Given the description of an element on the screen output the (x, y) to click on. 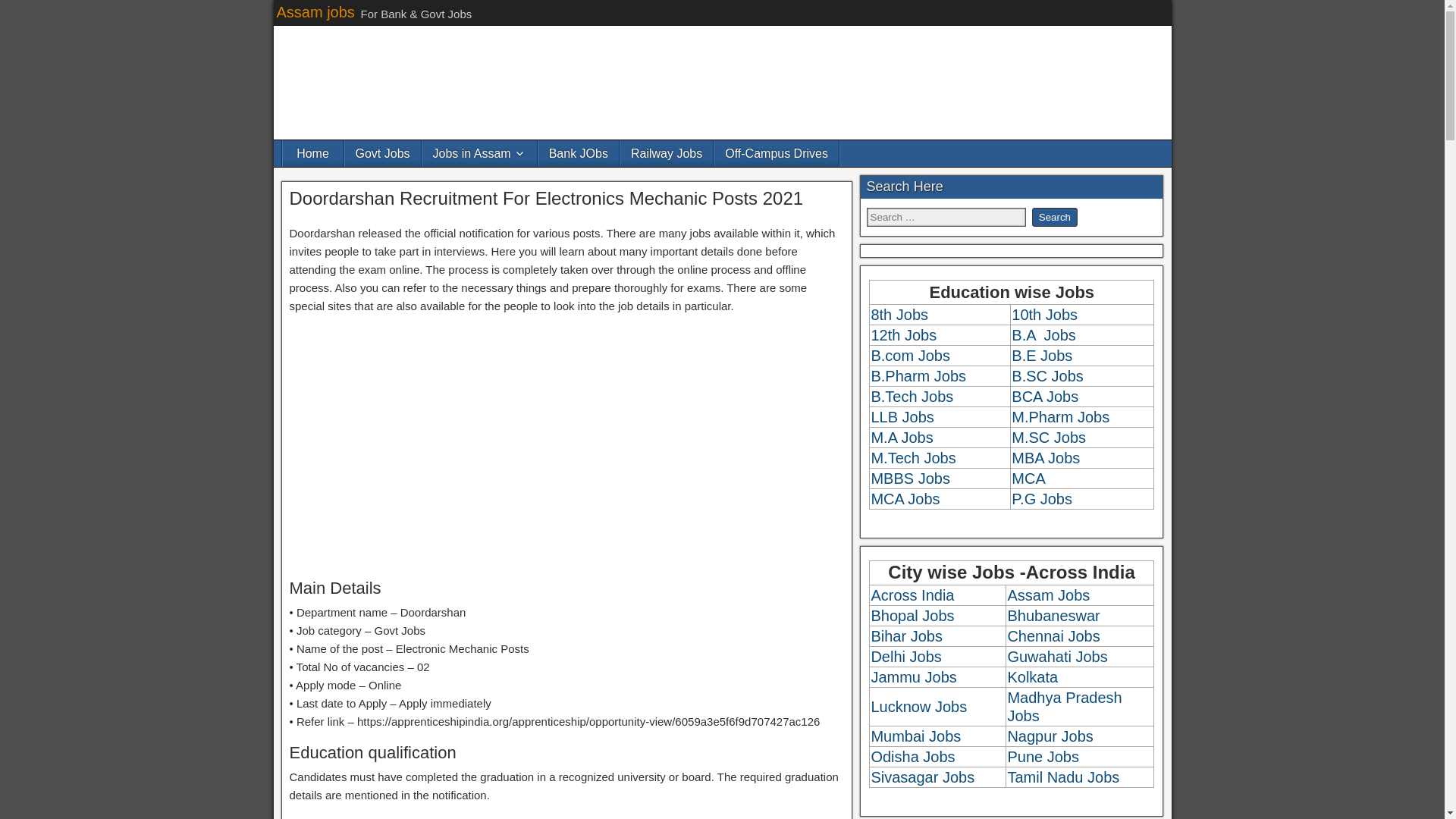
Home (312, 153)
Railway Jobs (666, 153)
Jobs in Assam (479, 153)
Off-Campus Drives (776, 153)
Bank JObs (578, 153)
Search (1054, 217)
Doordarshan Recruitment For Electronics Mechanic Posts 2021 (546, 198)
Assam jobs (314, 12)
Search (1054, 217)
Govt Jobs (381, 153)
